Given the description of an element on the screen output the (x, y) to click on. 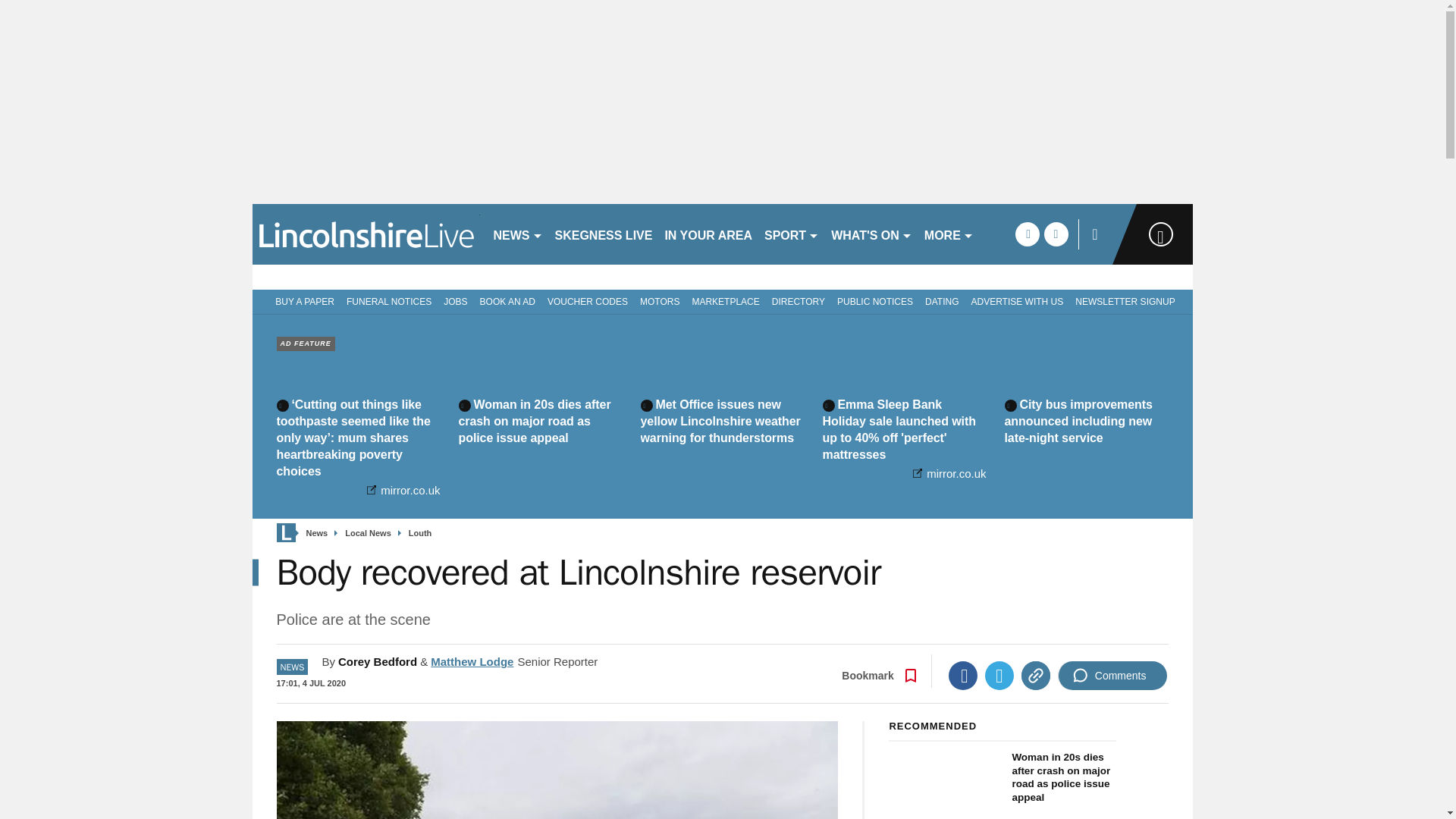
facebook (1026, 233)
Comments (1112, 675)
SKEGNESS LIVE (603, 233)
WHAT'S ON (871, 233)
NEWS (517, 233)
IN YOUR AREA (708, 233)
Twitter (999, 675)
MORE (948, 233)
lincolnshirelive (365, 233)
BUY A PAPER (301, 300)
